Given the description of an element on the screen output the (x, y) to click on. 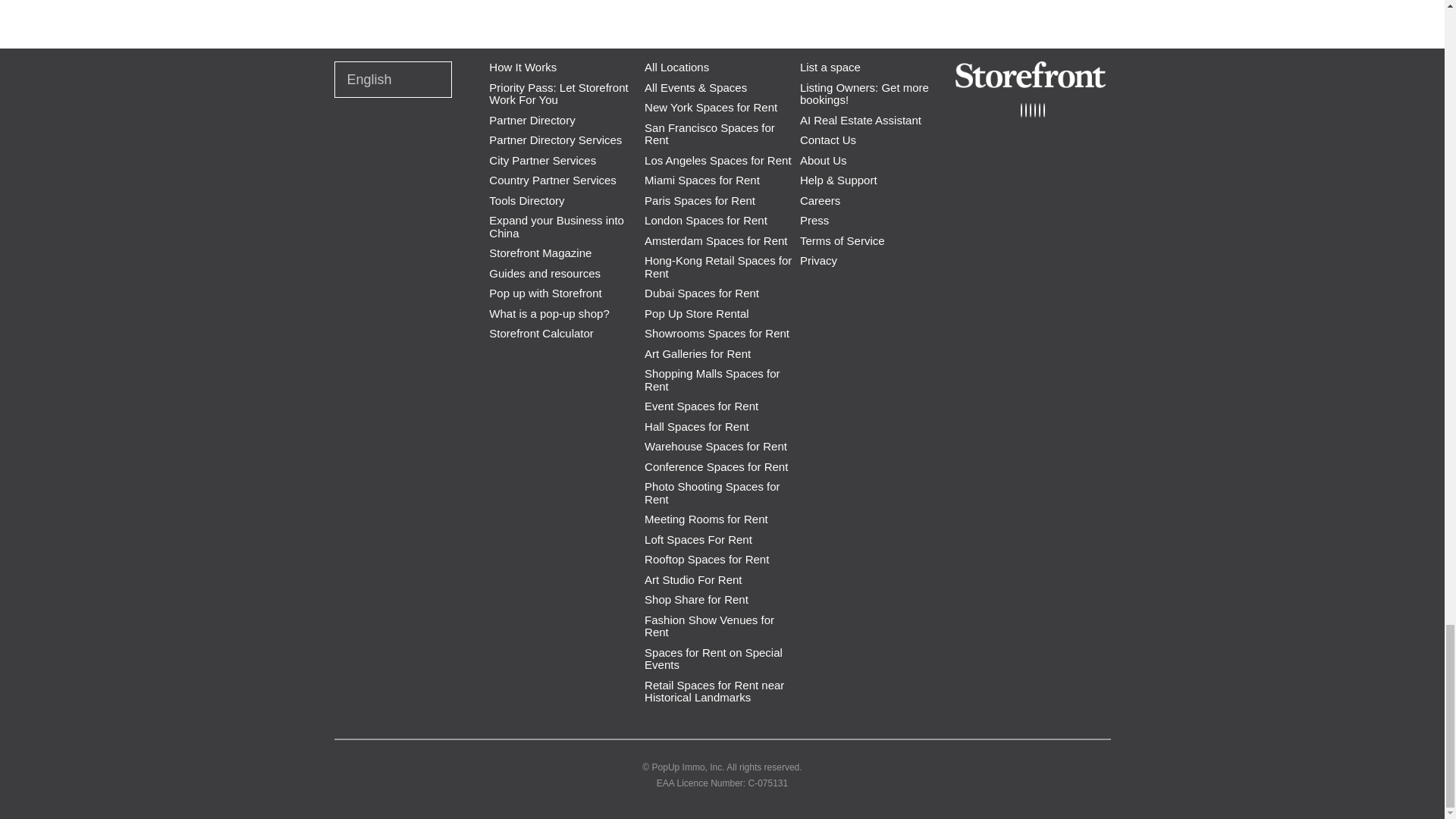
Country Partner Services (552, 180)
Partner Directory Services (555, 140)
Pop up with Storefront (545, 293)
Priority Pass: Let Storefront Work For You (558, 94)
How It Works (522, 67)
Storefront Calculator (541, 333)
All Locations (677, 67)
Partner Directory (532, 120)
City Partner Services (542, 160)
Storefront Magazine (540, 253)
Tools Directory (526, 201)
New York Spaces for Rent (711, 107)
Expand your Business into China (556, 226)
Guides and resources (544, 273)
San Francisco Spaces for Rent (709, 134)
